Given the description of an element on the screen output the (x, y) to click on. 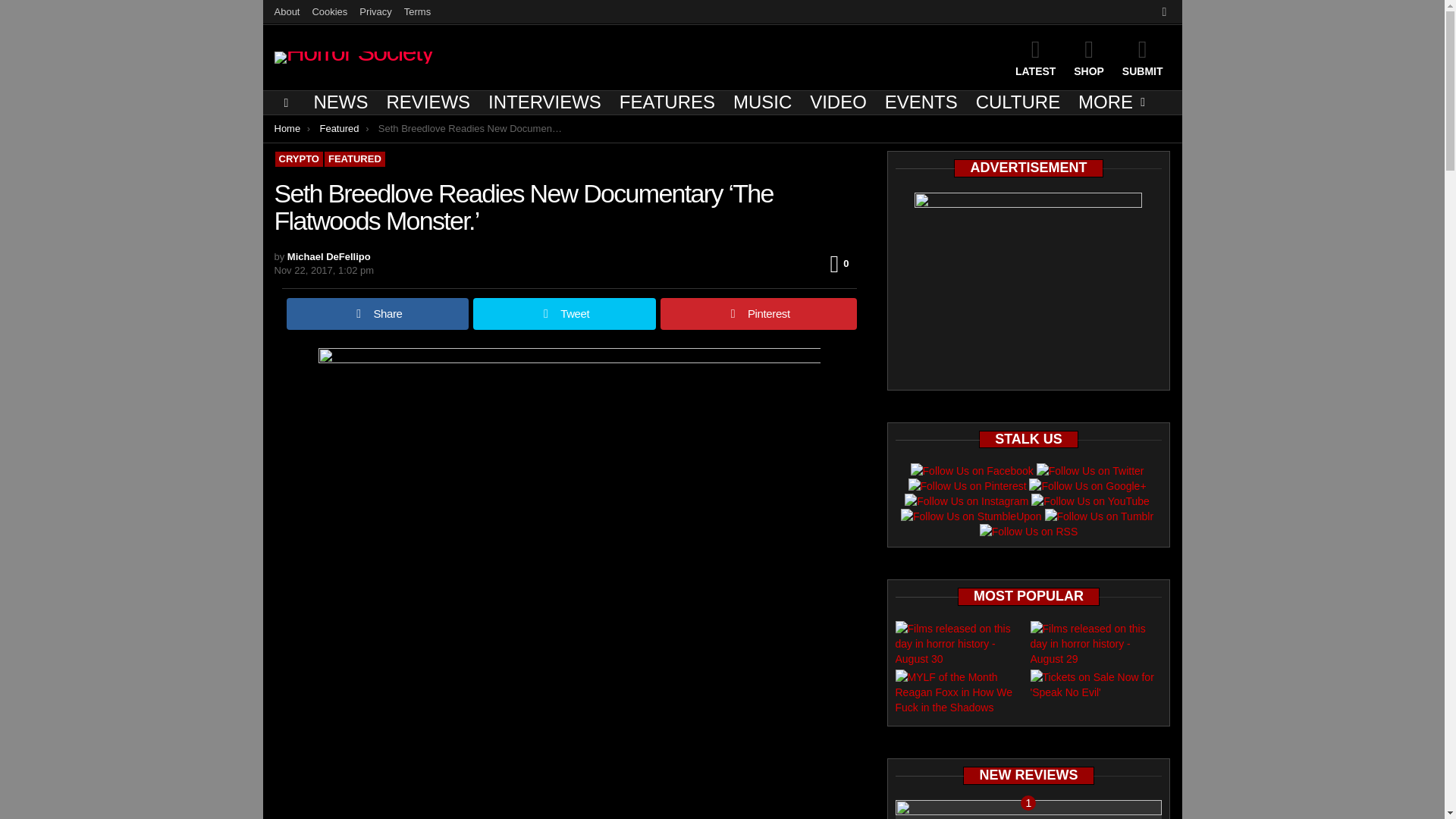
Home (288, 128)
SUBMIT (1142, 56)
LATEST (1034, 56)
NEWS (340, 101)
EVENTS (921, 101)
CULTURE (1018, 101)
FEATURES (666, 101)
MORE (1107, 101)
Posts by Michael DeFellipo (328, 256)
Follow Us on StumbleUpon (971, 516)
